Given the description of an element on the screen output the (x, y) to click on. 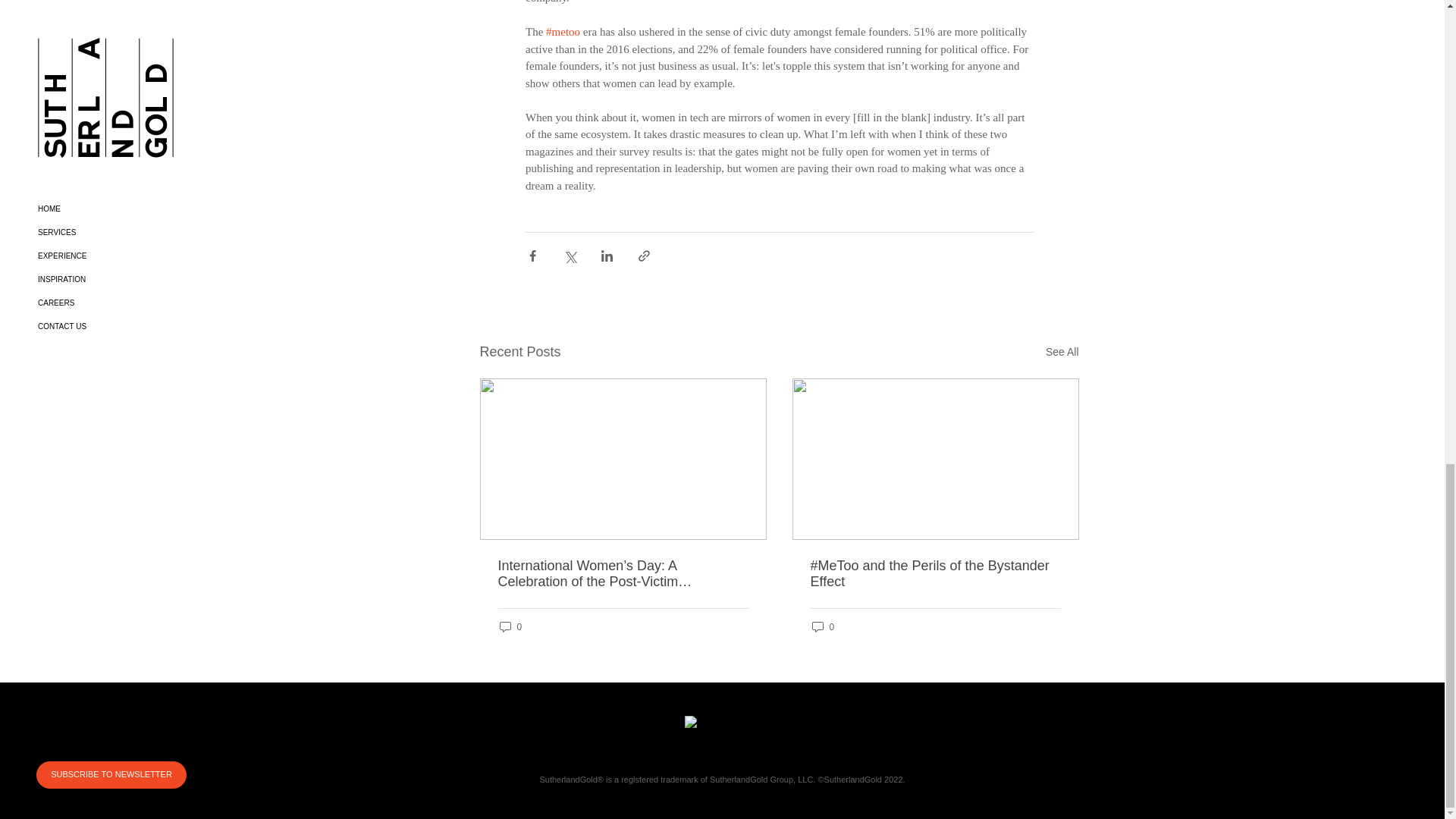
0 (509, 626)
0 (822, 626)
See All (1061, 352)
